Given the description of an element on the screen output the (x, y) to click on. 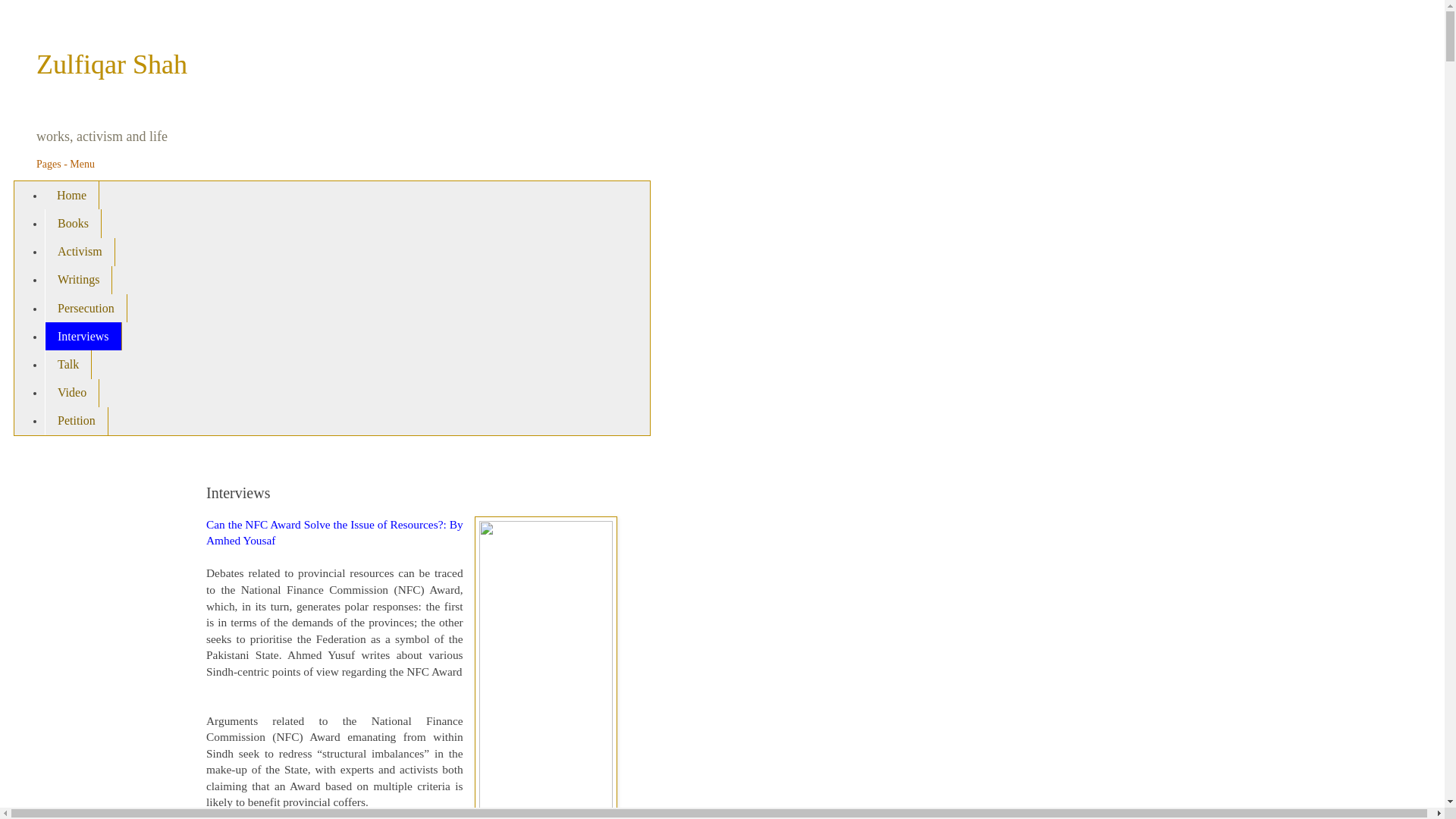
Interviews (83, 336)
Activism (80, 252)
Home (72, 194)
Writings (78, 280)
Books (73, 223)
Zulfiqar Shah (111, 64)
Persecution (86, 308)
Petition (76, 420)
Talk (68, 364)
